Given the description of an element on the screen output the (x, y) to click on. 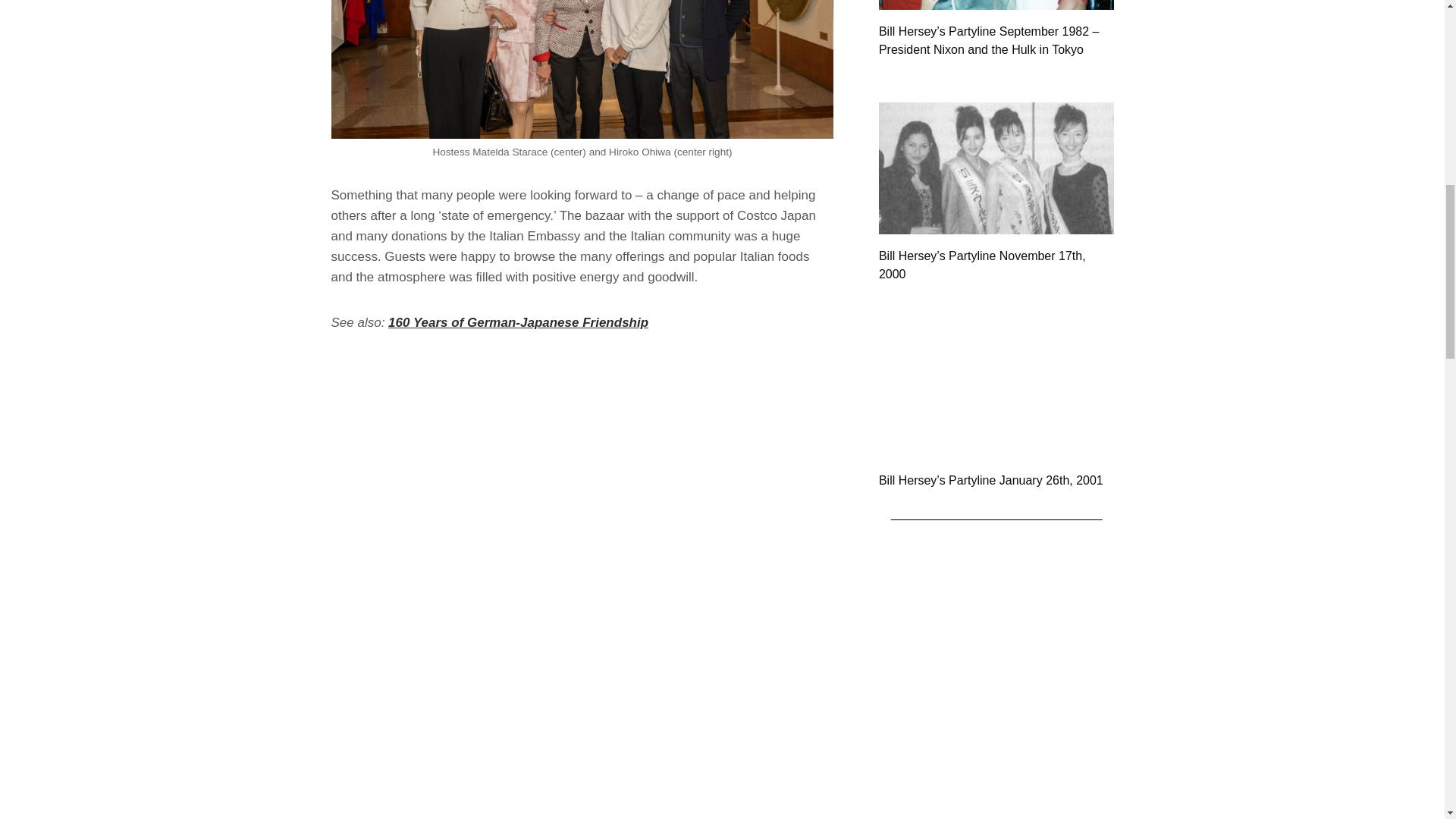
160 Years of German-Japanese Friendship (517, 322)
